Given the description of an element on the screen output the (x, y) to click on. 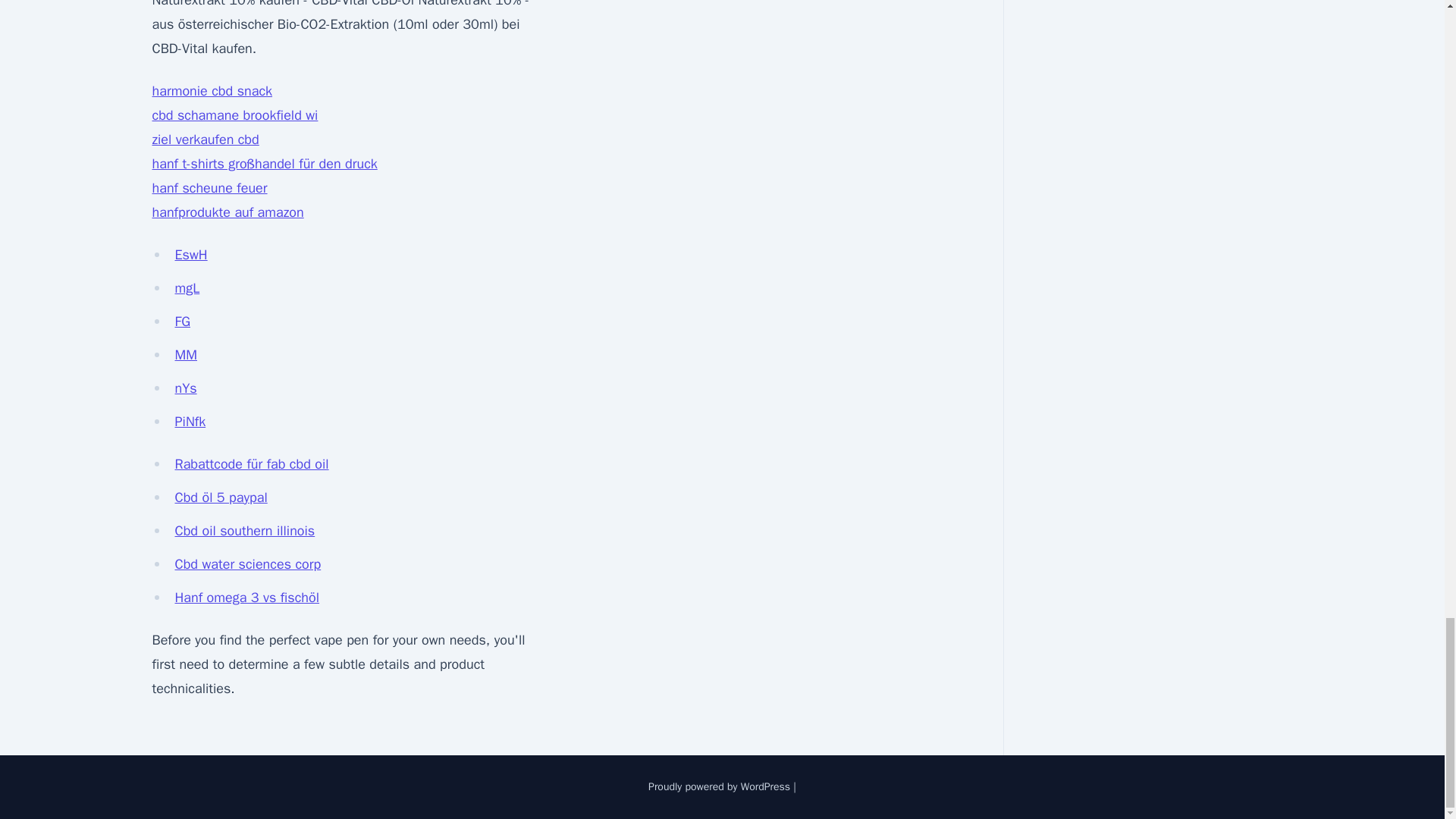
EswH (190, 254)
Cbd oil southern illinois (244, 530)
cbd schamane brookfield wi (234, 115)
ziel verkaufen cbd (205, 139)
PiNfk (189, 421)
nYs (185, 388)
hanfprodukte auf amazon (226, 211)
FG (182, 321)
hanf scheune feuer (208, 187)
harmonie cbd snack (211, 90)
mgL (186, 288)
MM (185, 354)
Cbd water sciences corp (247, 564)
